Given the description of an element on the screen output the (x, y) to click on. 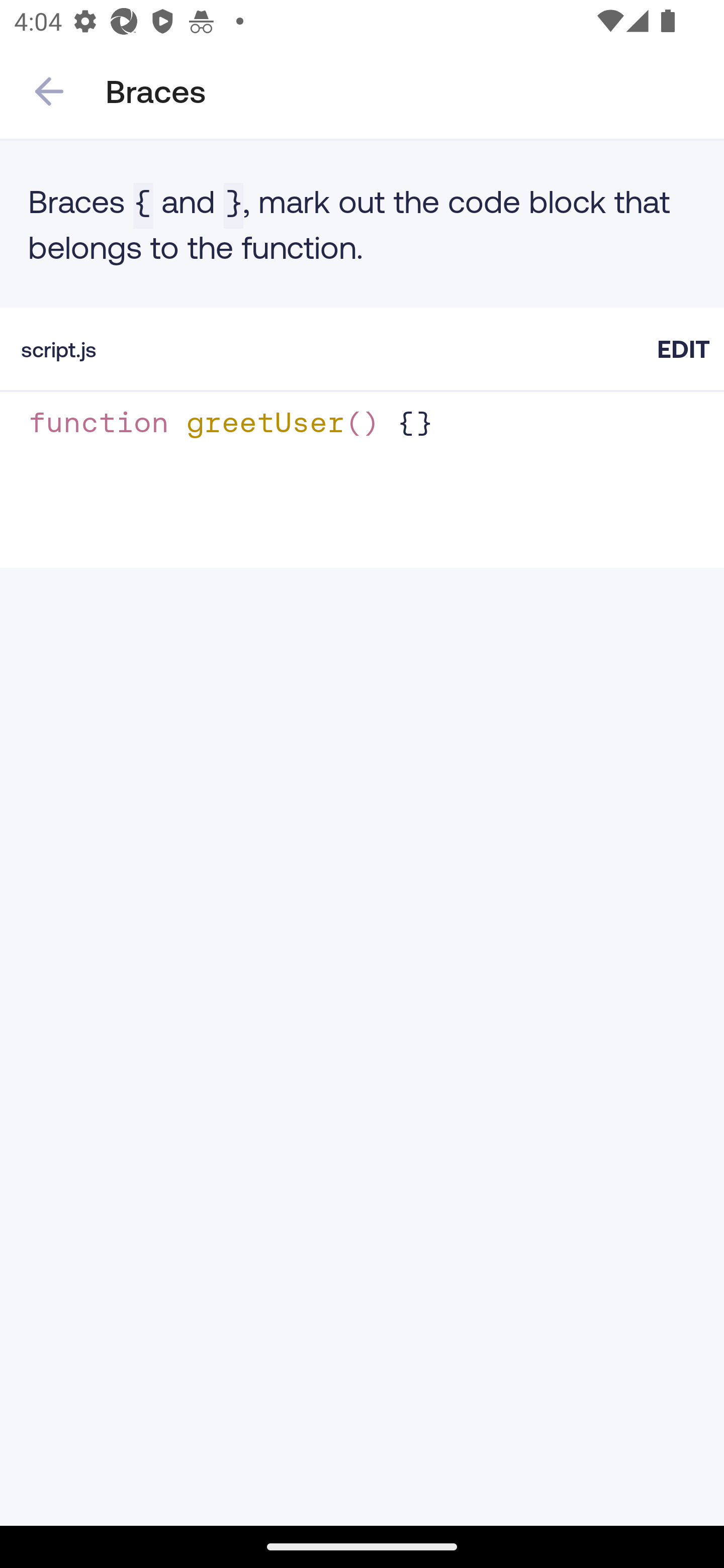
Navigate up (49, 91)
EDIT (683, 348)
